Given the description of an element on the screen output the (x, y) to click on. 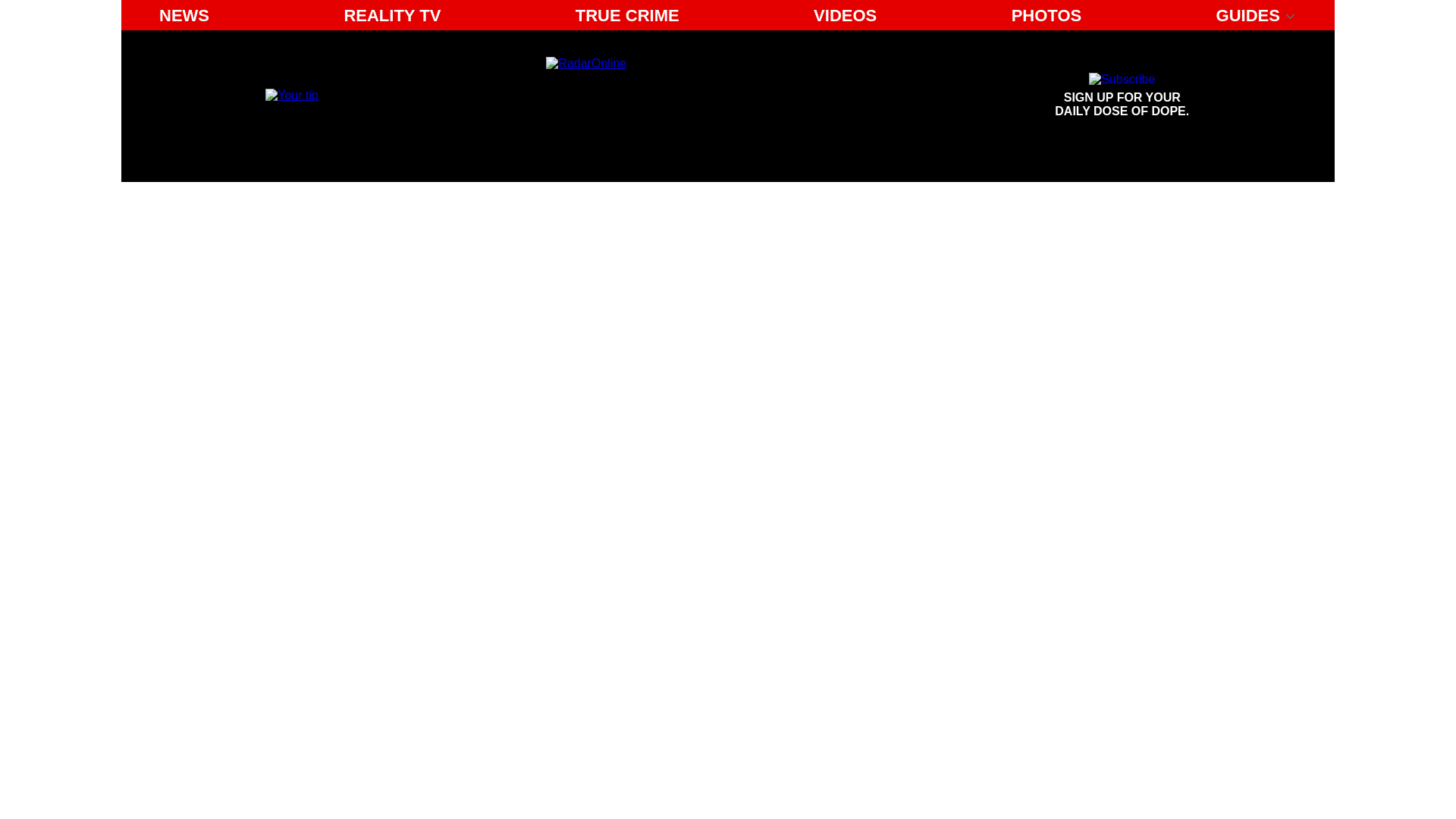
NEWS (183, 15)
Email us your tip (291, 94)
Radar Online (685, 95)
TRUE CRIME (1122, 94)
REALITY TV (627, 15)
Sign up for your daily dose of dope. (392, 15)
PHOTOS (1122, 94)
VIDEOS (1046, 15)
